Given the description of an element on the screen output the (x, y) to click on. 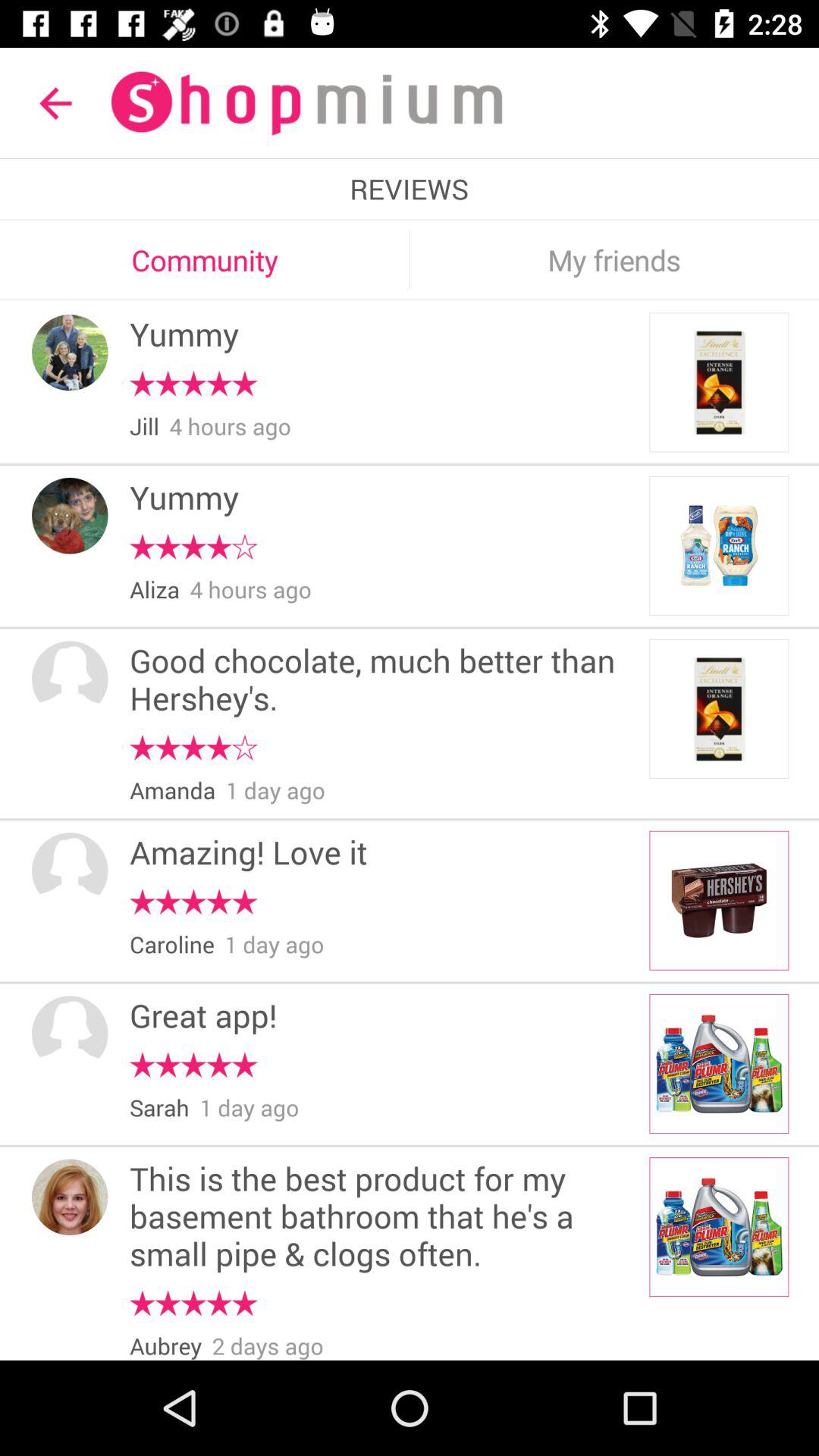
launch the item to the left of the good chocolate much icon (69, 678)
